Given the description of an element on the screen output the (x, y) to click on. 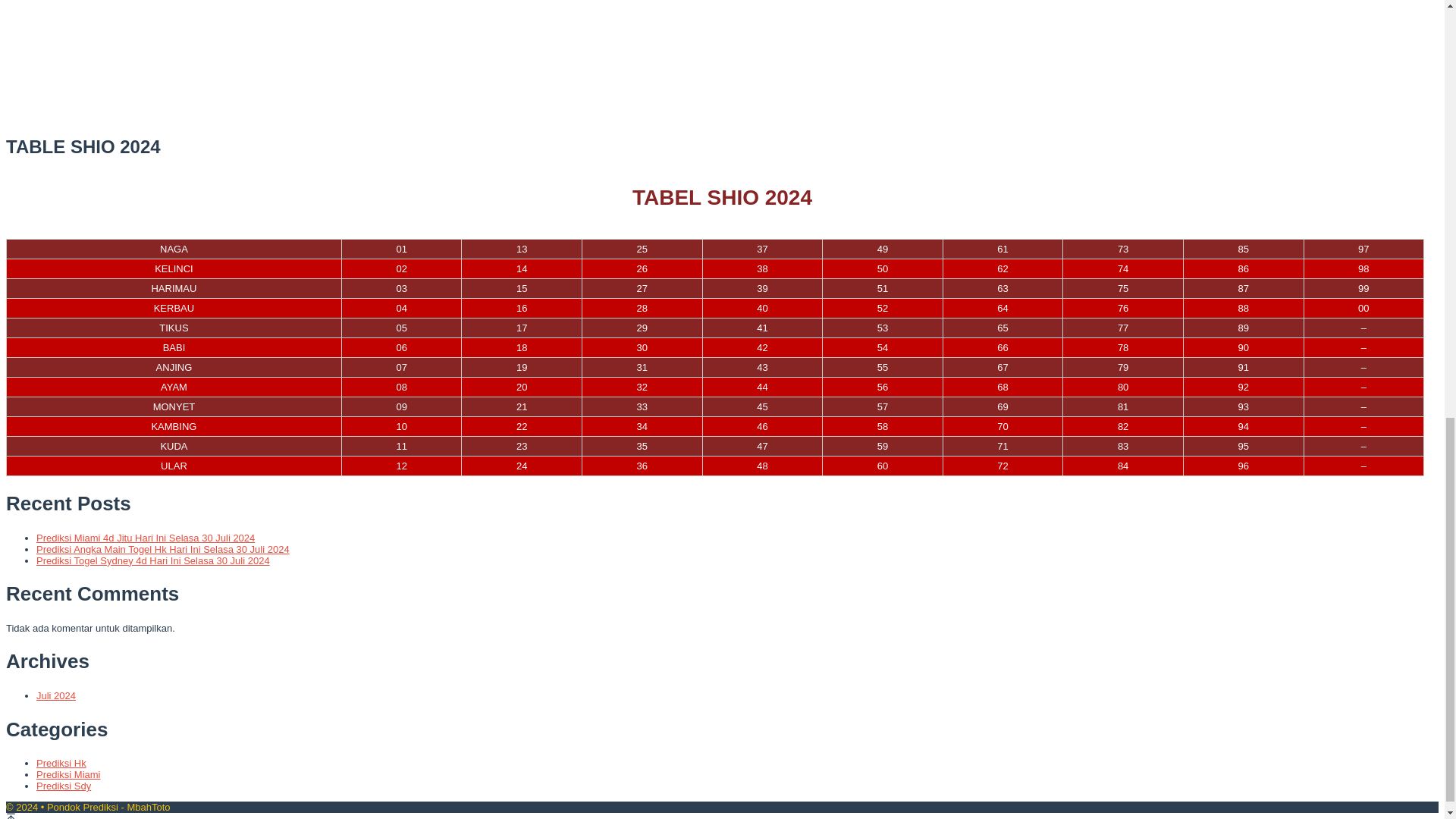
Prediksi Angka Main Togel Hk Hari Ini Selasa 30 Juli 2024 (162, 549)
Prediksi Miami (68, 774)
Juli 2024 (55, 695)
Prediksi Hk (60, 763)
Prediksi Miami 4d Jitu Hari Ini Selasa 30 Juli 2024 (145, 537)
Prediksi Sdy (63, 785)
Prediksi Togel Sydney 4d Hari Ini Selasa 30 Juli 2024 (152, 560)
